Given the description of an element on the screen output the (x, y) to click on. 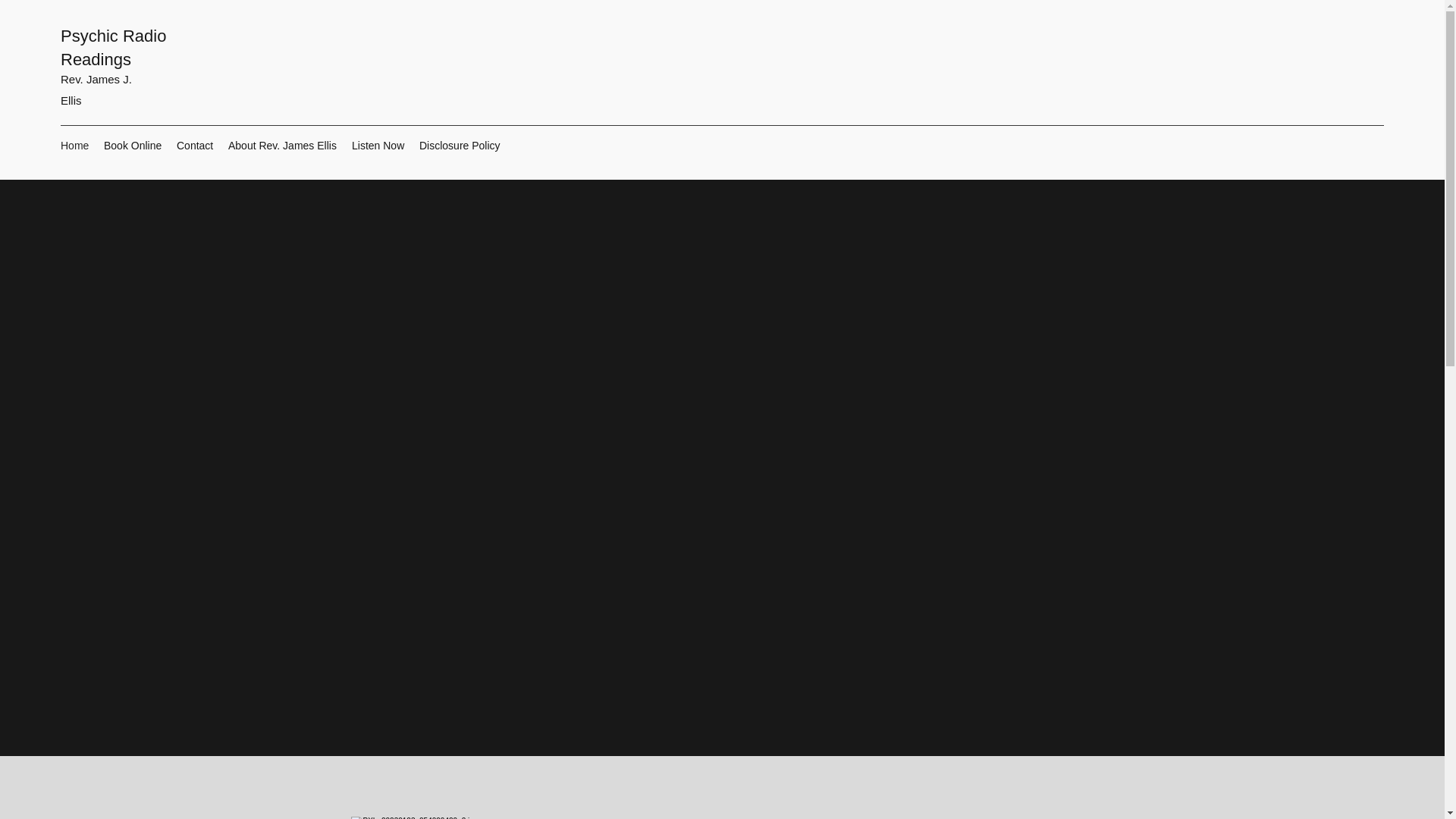
Home (74, 145)
Disclosure Policy (460, 145)
Book Online (132, 145)
Psychic Radio Readings (113, 47)
Listen Now (377, 145)
Contact (194, 145)
